Given the description of an element on the screen output the (x, y) to click on. 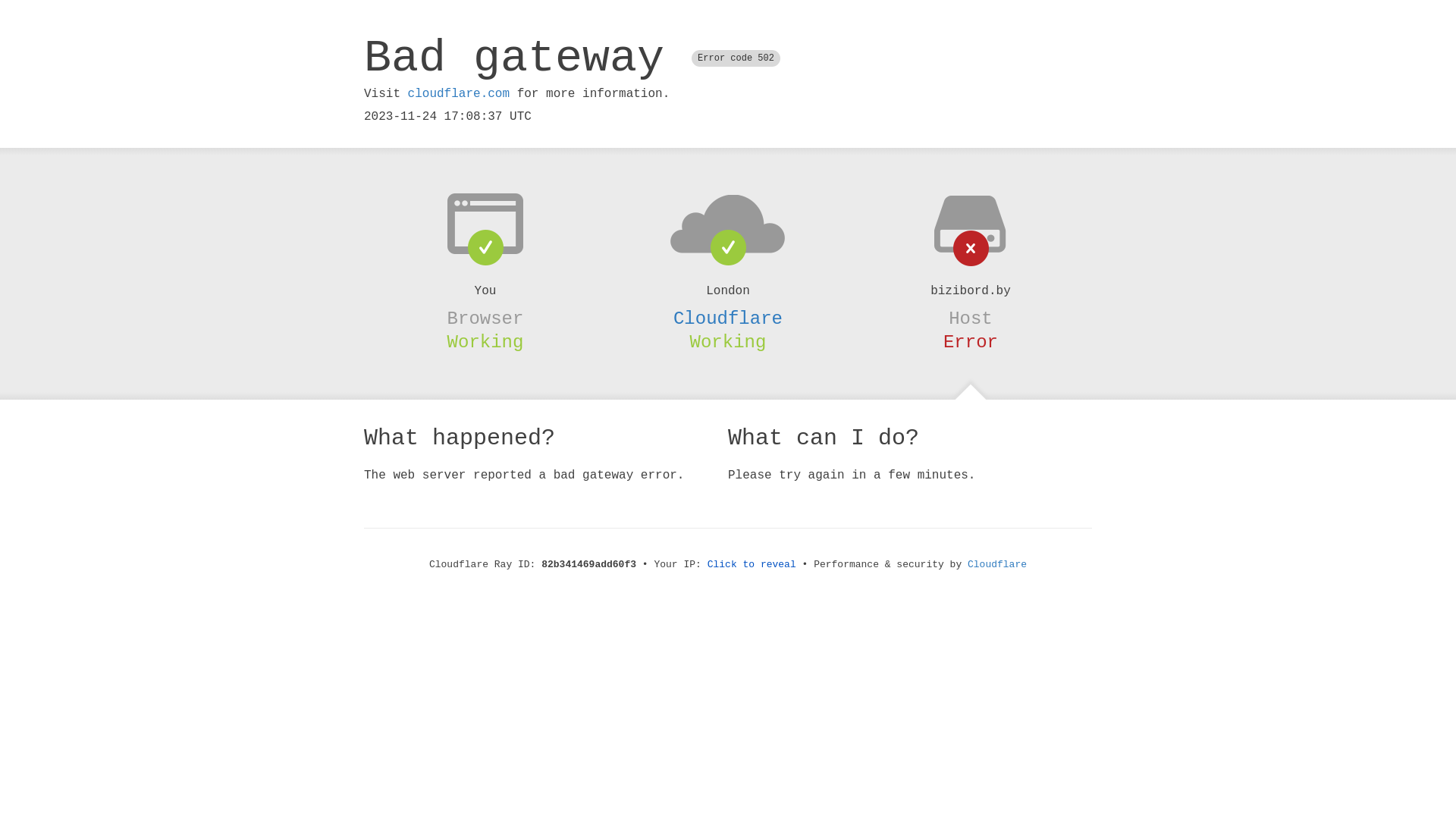
cloudflare.com Element type: text (458, 93)
Click to reveal Element type: text (751, 564)
Cloudflare Element type: text (727, 318)
Cloudflare Element type: text (996, 564)
